Given the description of an element on the screen output the (x, y) to click on. 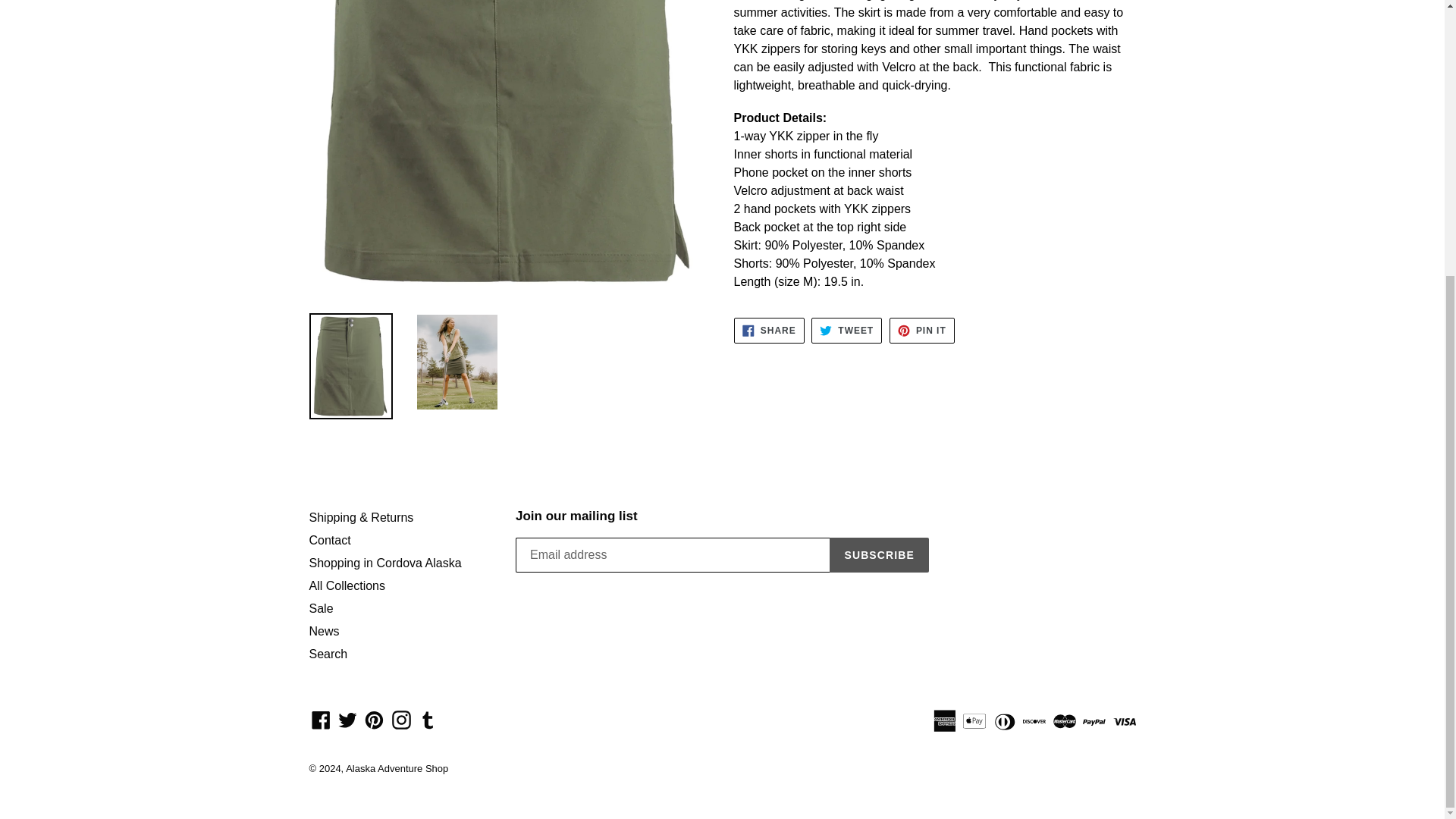
Pin on Pinterest (922, 330)
Alaska Adventure Shop on Twitter (347, 719)
Alaska Adventure Shop on Facebook (320, 719)
Share on Facebook (769, 330)
Alaska Adventure Shop on Tumblr (427, 719)
Tweet on Twitter (846, 330)
Alaska Adventure Shop on Pinterest (373, 719)
Alaska Adventure Shop on Instagram (401, 719)
